Given the description of an element on the screen output the (x, y) to click on. 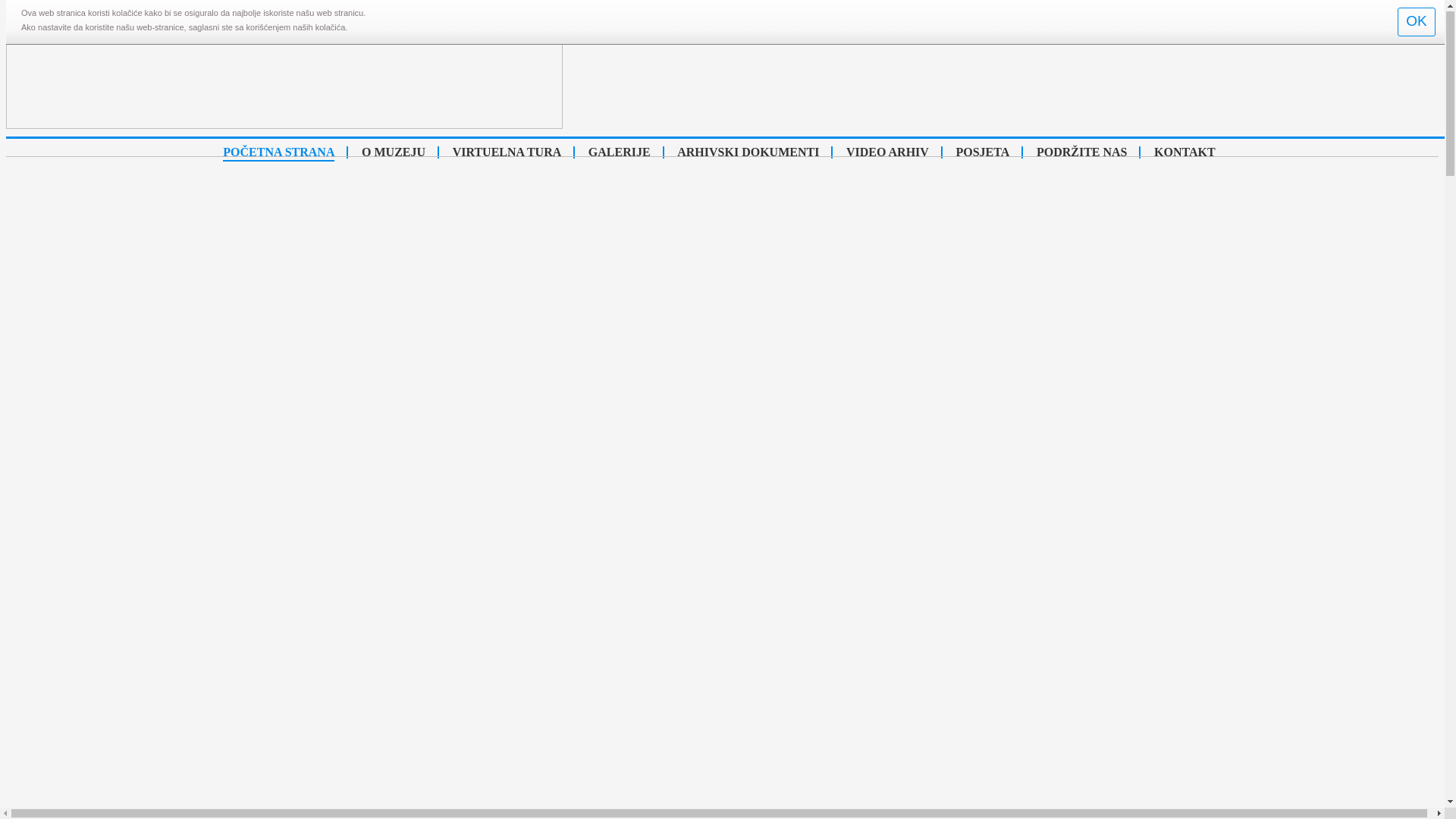
POSJETA Element type: text (982, 152)
OK Element type: text (1416, 22)
GALERIJE Element type: text (619, 152)
VIRTUELNA TURA Element type: text (506, 152)
O MUZEJU Element type: text (393, 152)
ARHIVSKI DOKUMENTI Element type: text (748, 152)
KONTAKT Element type: text (1184, 152)
VIDEO ARHIV Element type: text (887, 152)
